Given the description of an element on the screen output the (x, y) to click on. 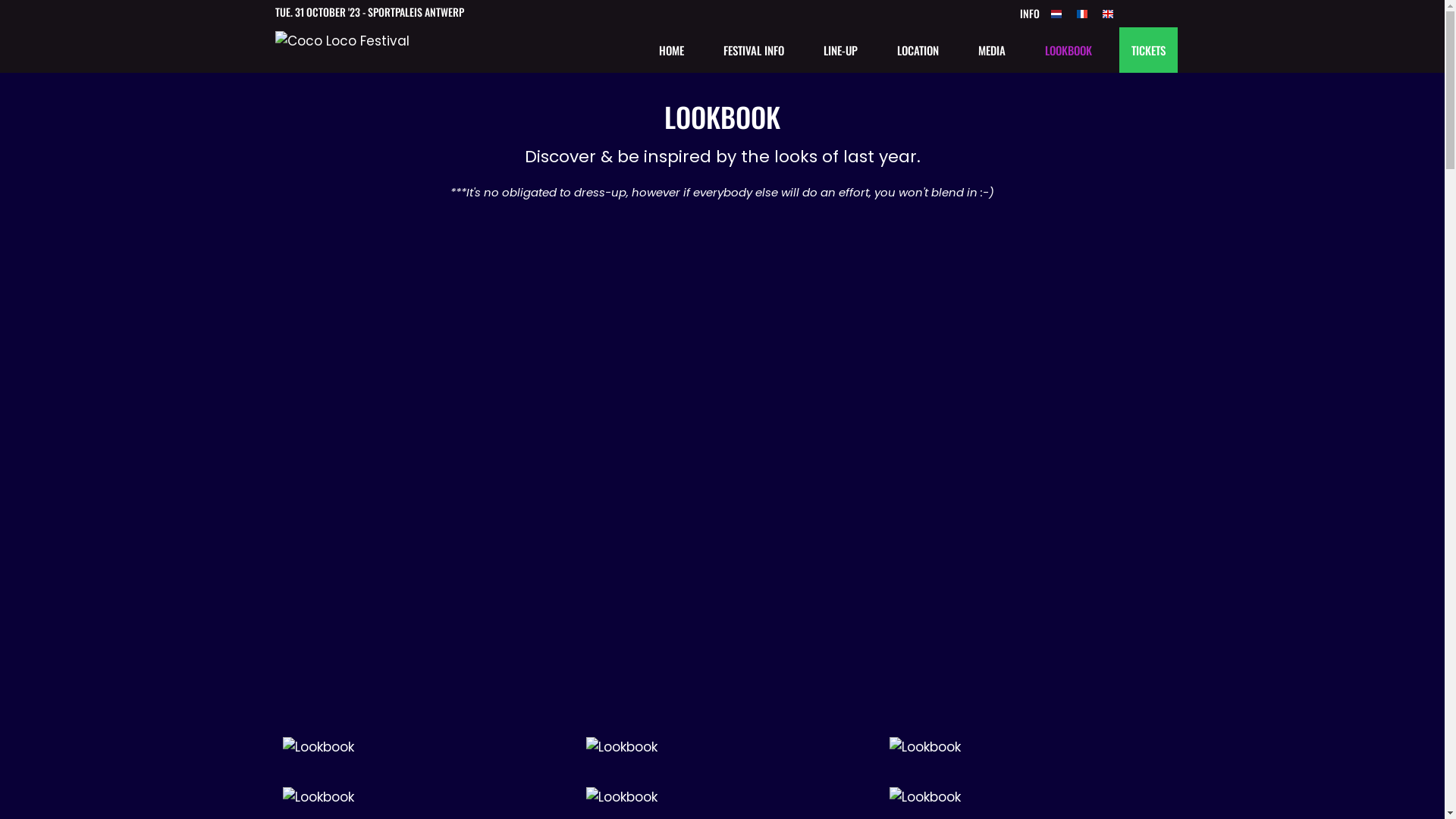
MEDIA Element type: text (991, 49)
LOCATION Element type: text (917, 49)
Info FR Element type: hover (1082, 13)
Lookbook Element type: hover (1024, 746)
FESTIVAL INFO Element type: text (753, 49)
TICKETS Element type: text (1148, 49)
LOOKBOOK Element type: text (1068, 49)
HOME Element type: text (670, 49)
Coco Loco Festival Element type: hover (341, 49)
Lookbook Element type: hover (721, 746)
Lookbook Element type: hover (1024, 796)
LINE-UP Element type: text (840, 49)
INFO Element type: text (1039, 13)
Info EN Element type: hover (1107, 13)
Lookbook Element type: hover (721, 796)
Lookbook Element type: hover (418, 746)
Lookbook Element type: hover (418, 796)
